Given the description of an element on the screen output the (x, y) to click on. 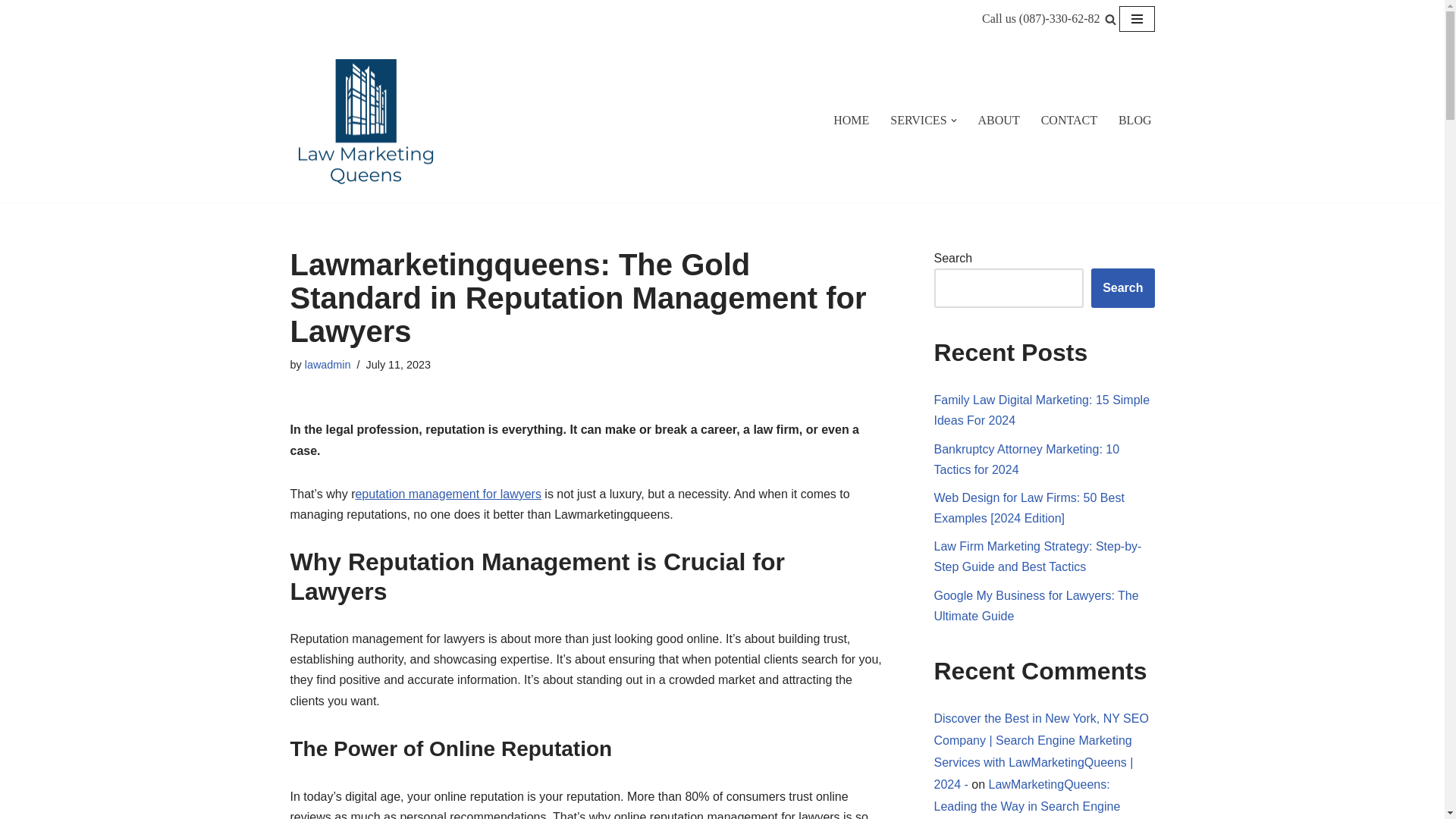
SERVICES (917, 119)
CONTACT (1069, 119)
Skip to content (11, 31)
Family Law Digital Marketing: 15 Simple Ideas For 2024 (1042, 409)
eputation management for lawyers (447, 493)
ABOUT (999, 119)
Search (1122, 287)
Posts by lawadmin (327, 364)
BLOG (1134, 119)
HOME (850, 119)
Navigation Menu (1136, 18)
lawadmin (327, 364)
